Given the description of an element on the screen output the (x, y) to click on. 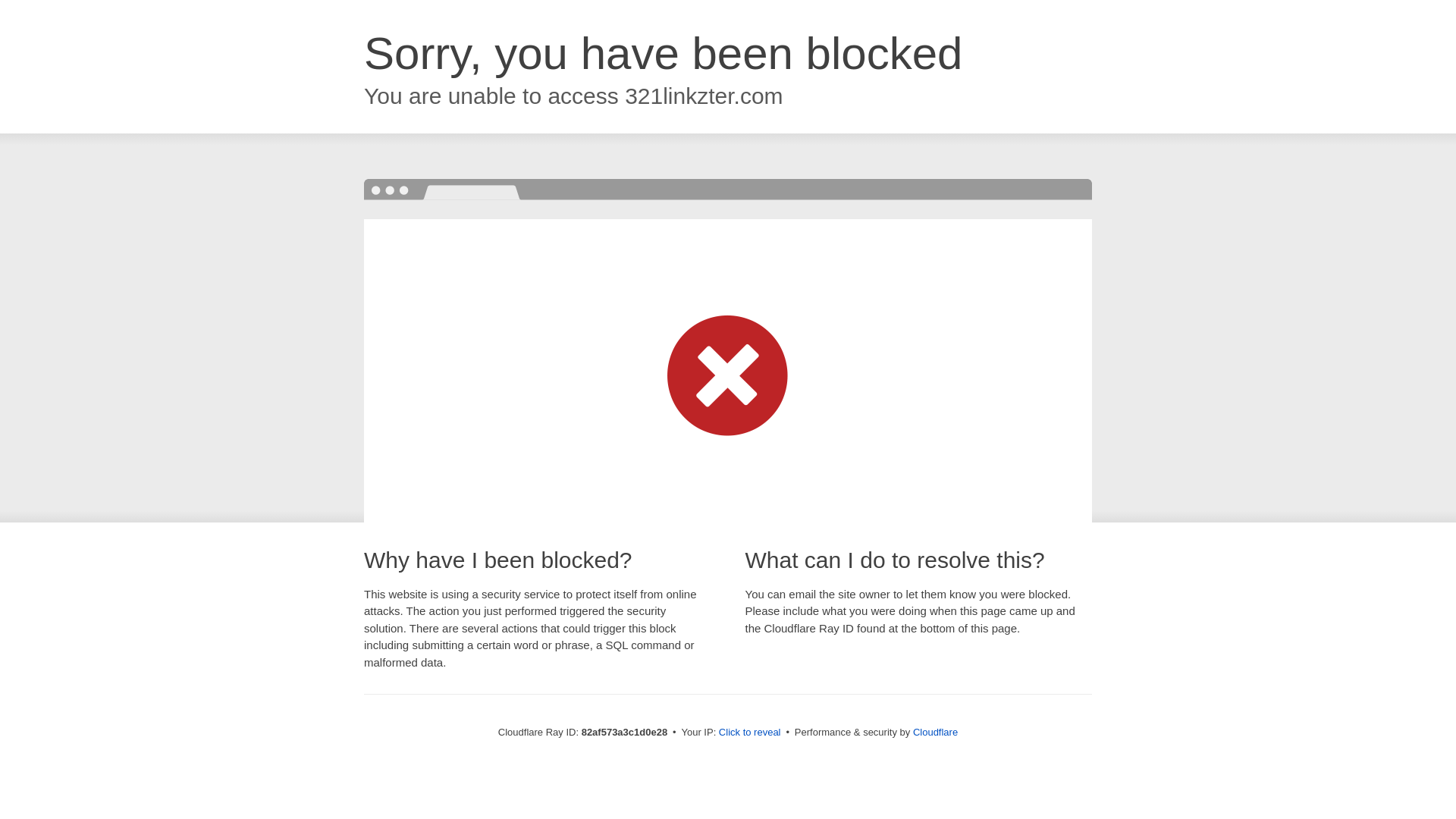
Click to reveal Element type: text (749, 732)
Cloudflare Element type: text (935, 731)
